Given the description of an element on the screen output the (x, y) to click on. 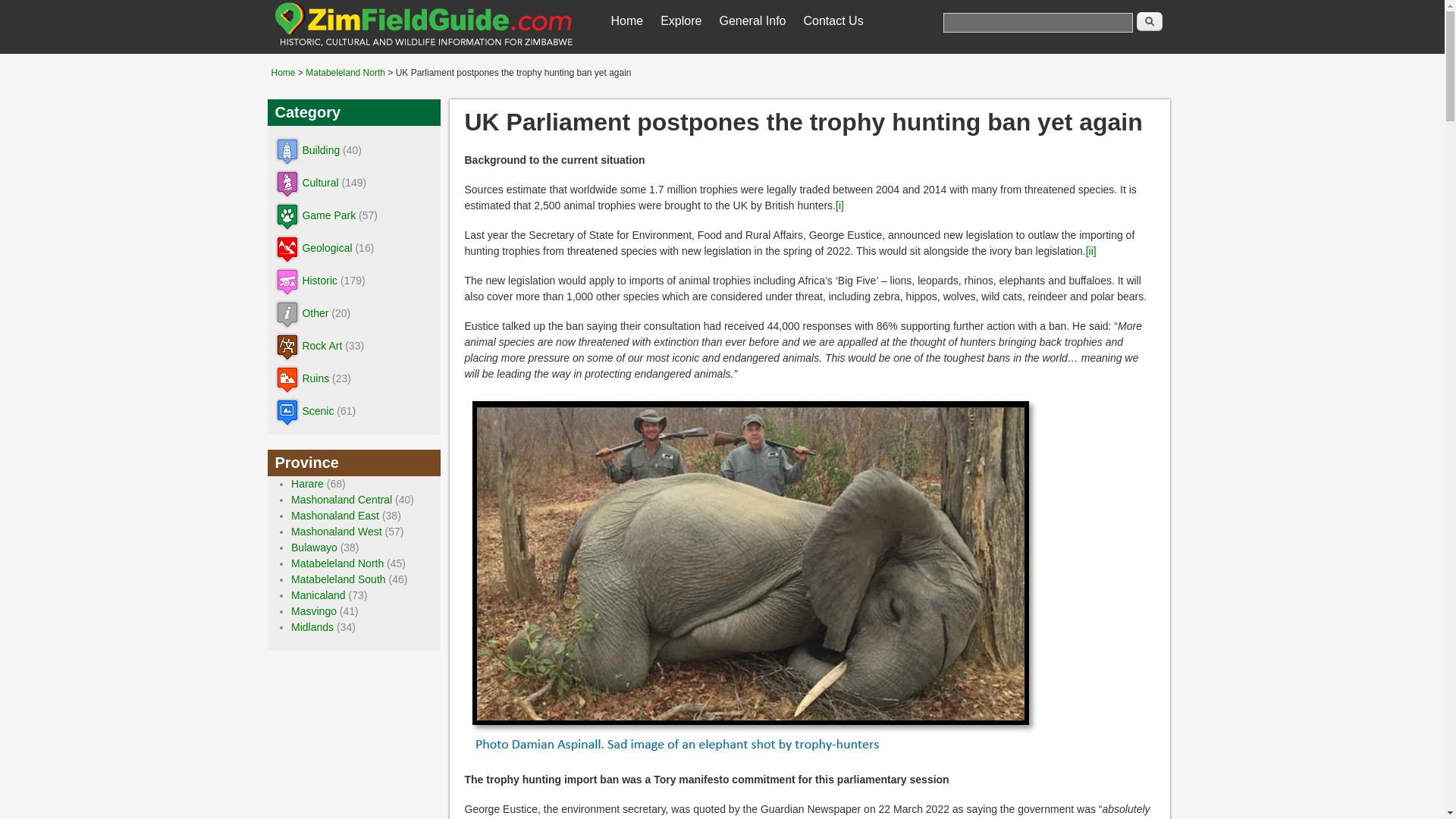
Contact Us (833, 20)
Search (1148, 21)
General Info (752, 20)
Explore (680, 20)
Home (627, 20)
Home (422, 45)
Search (1148, 21)
